Given the description of an element on the screen output the (x, y) to click on. 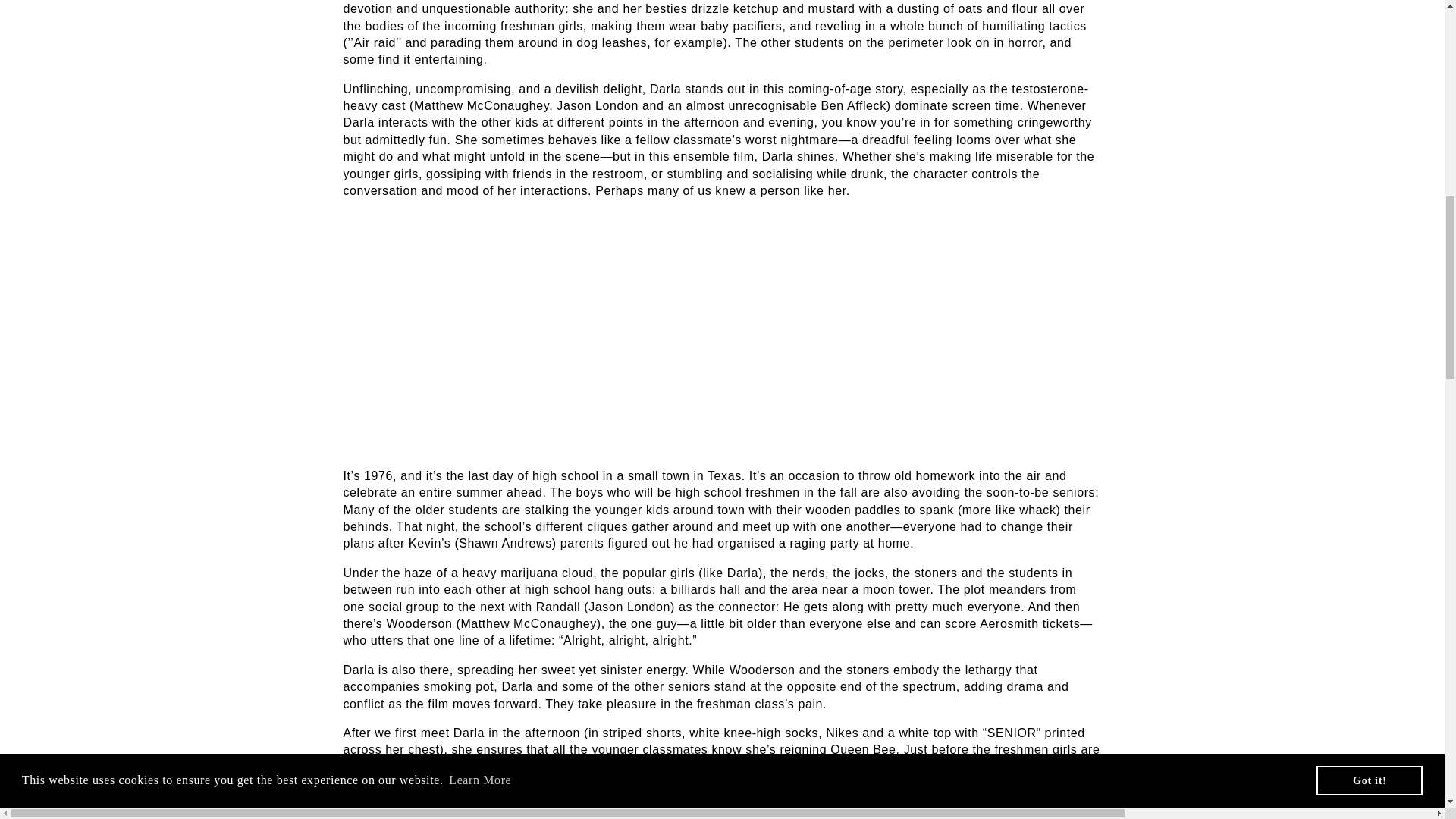
line (688, 799)
YouTube video player (554, 330)
What are you looking at? Wipe that face off your head, bitch (716, 775)
